Given the description of an element on the screen output the (x, y) to click on. 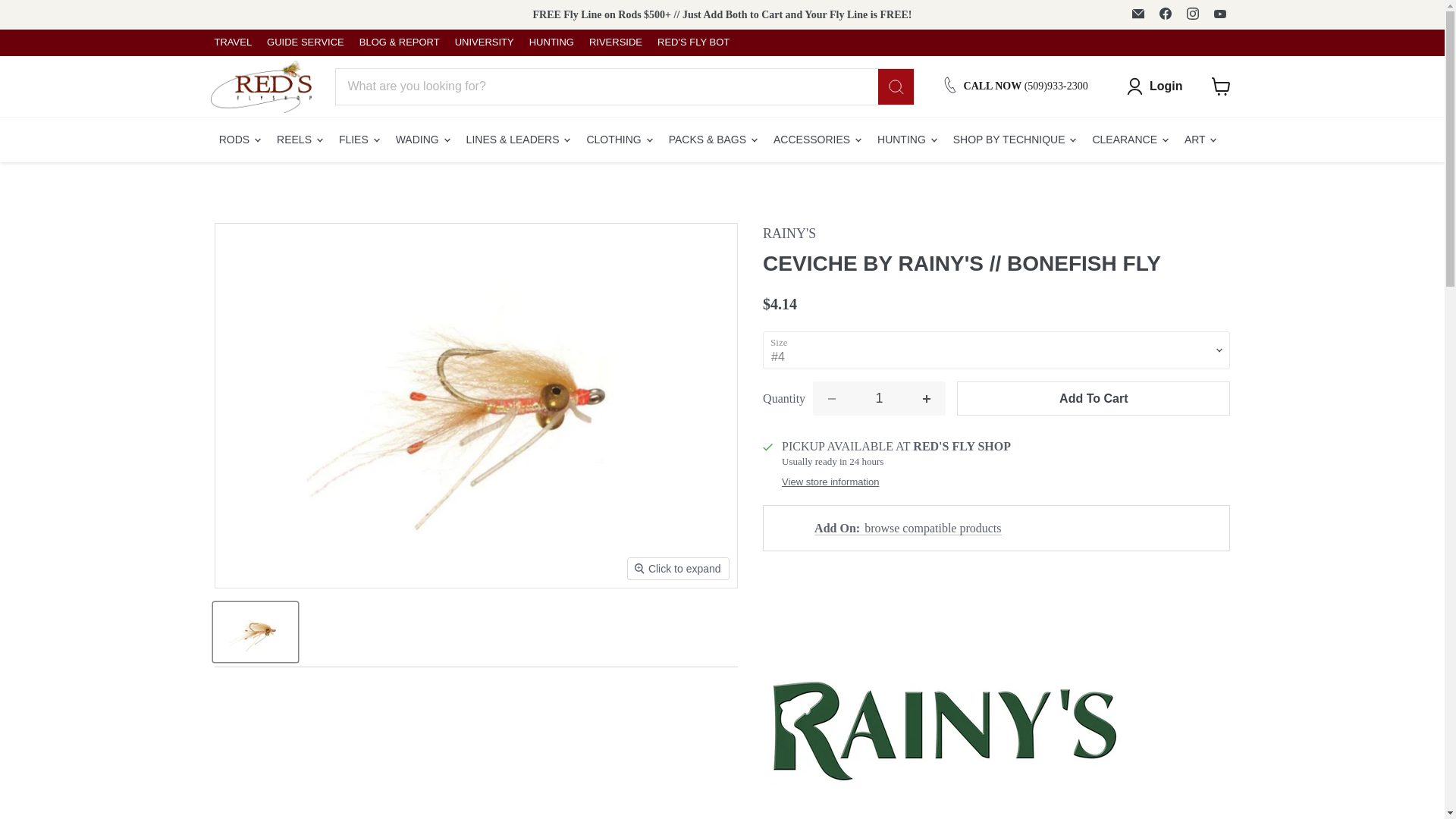
Instagram (1191, 13)
RIVERSIDE (615, 42)
1 (878, 398)
Find us on YouTube (1219, 13)
Find us on Instagram (1191, 13)
Find us on Facebook (1164, 13)
HUNTING (551, 42)
TRAVEL (232, 42)
UNIVERSITY (483, 42)
Login (1154, 85)
Email Red's Fly Shop (1137, 13)
Email (1137, 13)
Rainy's (788, 233)
RED'S FLY BOT (693, 42)
Facebook (1164, 13)
